Given the description of an element on the screen output the (x, y) to click on. 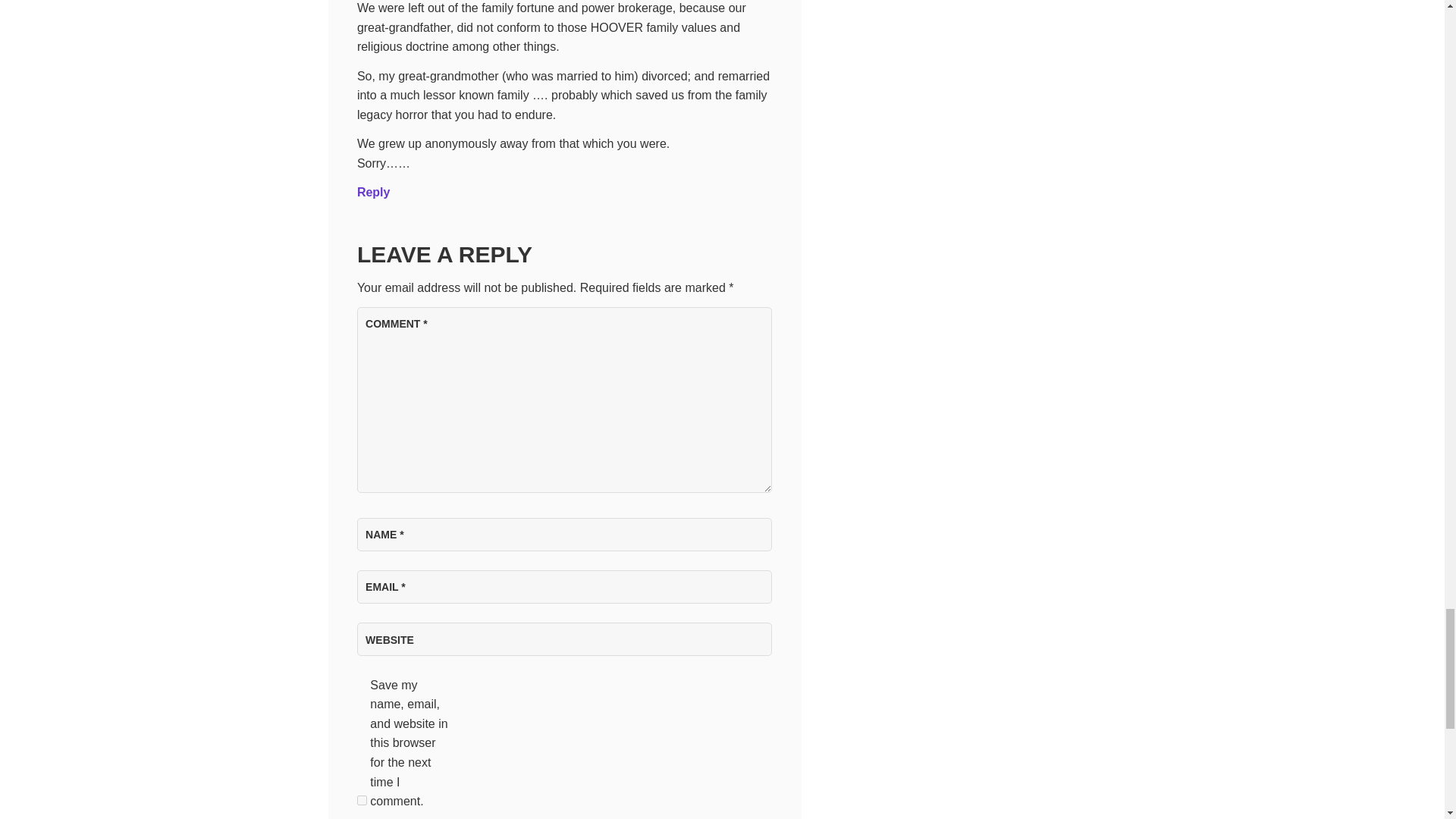
yes (361, 800)
Reply (373, 192)
